Given the description of an element on the screen output the (x, y) to click on. 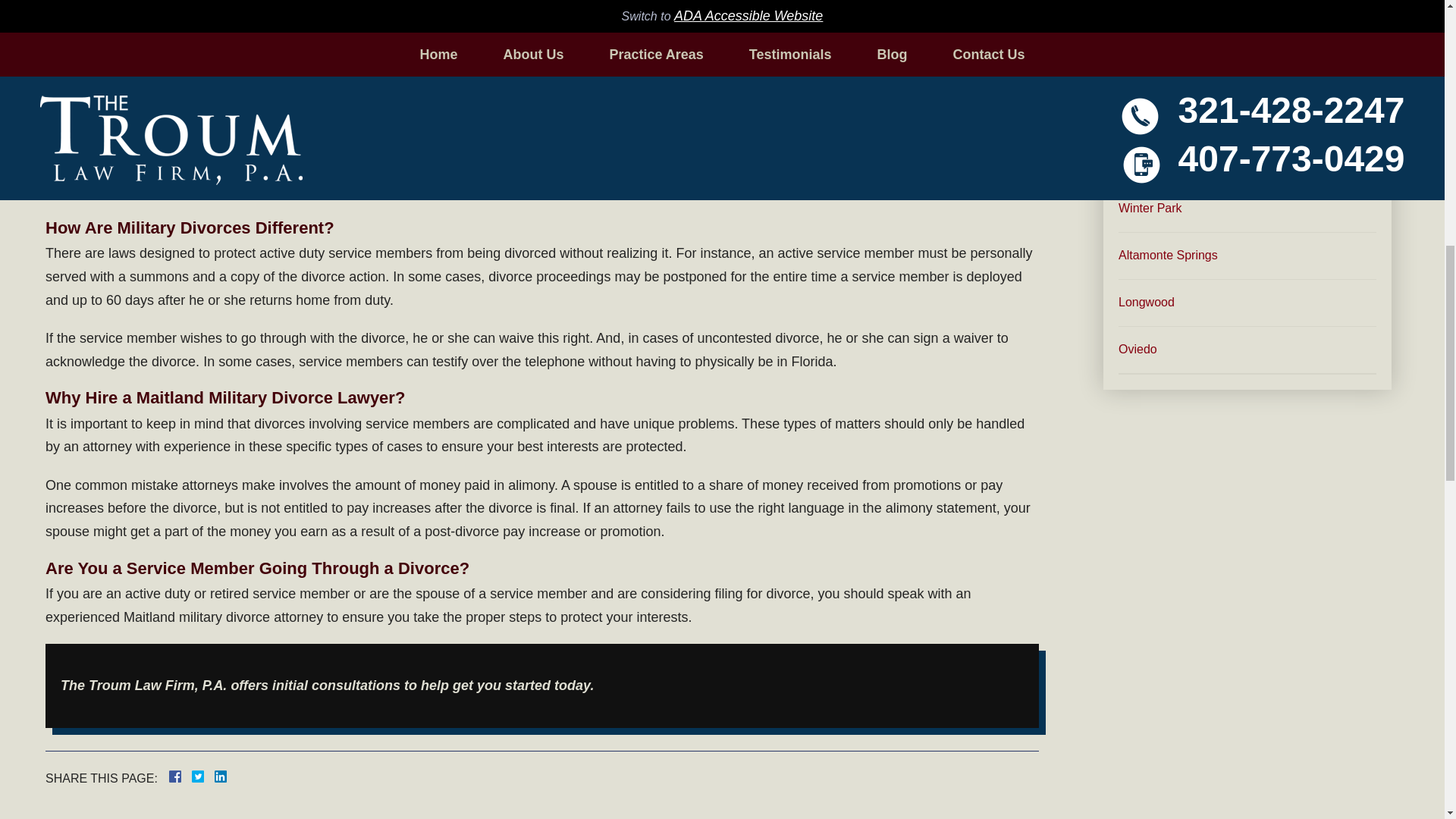
Facebook (192, 776)
Twitter (203, 776)
LinkedIn (214, 776)
